Given the description of an element on the screen output the (x, y) to click on. 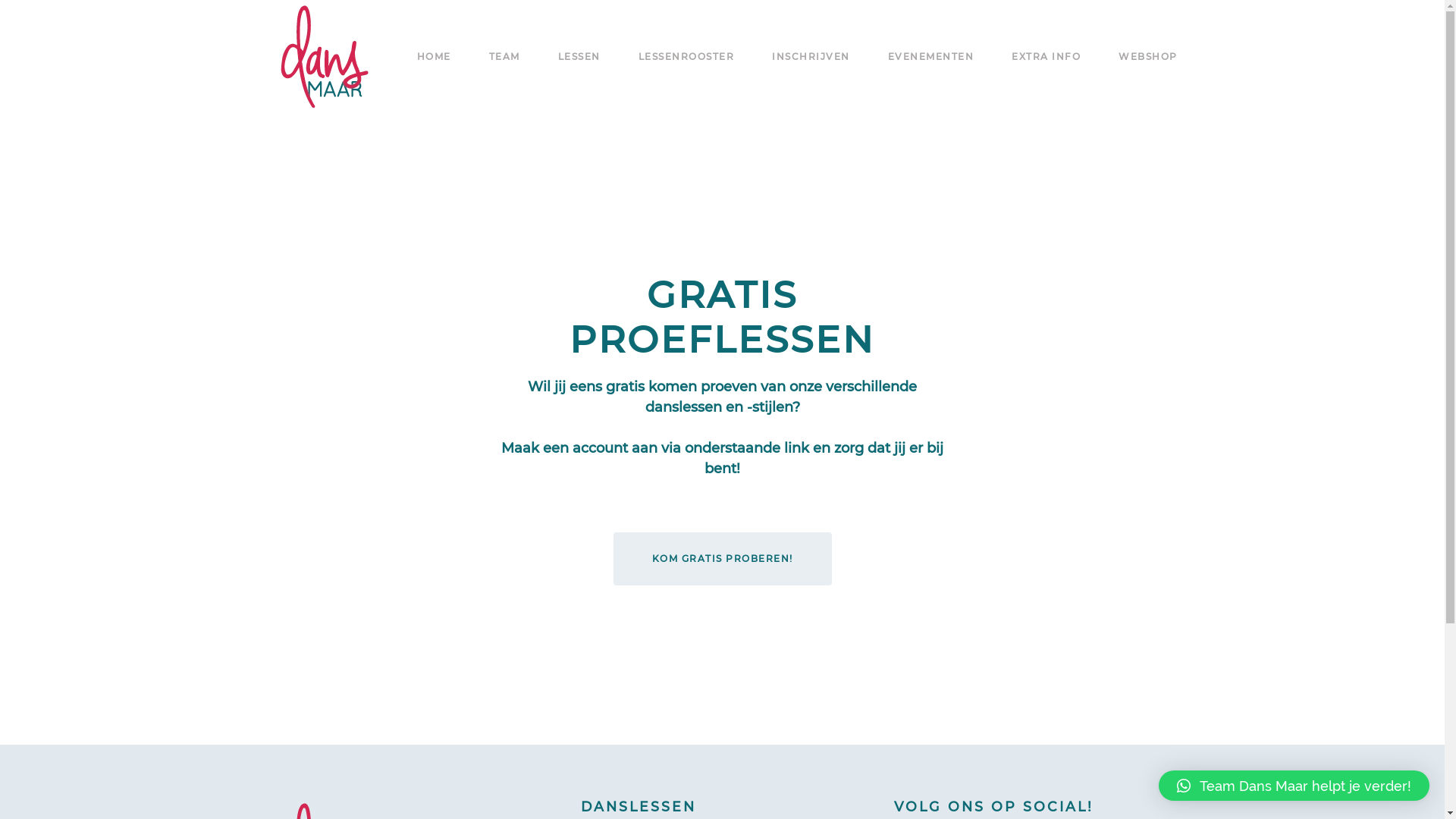
LESSEN Element type: text (579, 56)
EVENEMENTEN Element type: text (930, 56)
LESSENROOSTER Element type: text (686, 56)
KOM GRATIS PROBEREN! Element type: text (721, 558)
TEAM Element type: text (503, 56)
INSCHRIJVEN Element type: text (810, 56)
EXTRA INFO Element type: text (1045, 56)
HOME Element type: text (434, 56)
Team Dans Maar helpt je verder! Element type: text (1293, 785)
WEBSHOP Element type: text (1147, 56)
